Given the description of an element on the screen output the (x, y) to click on. 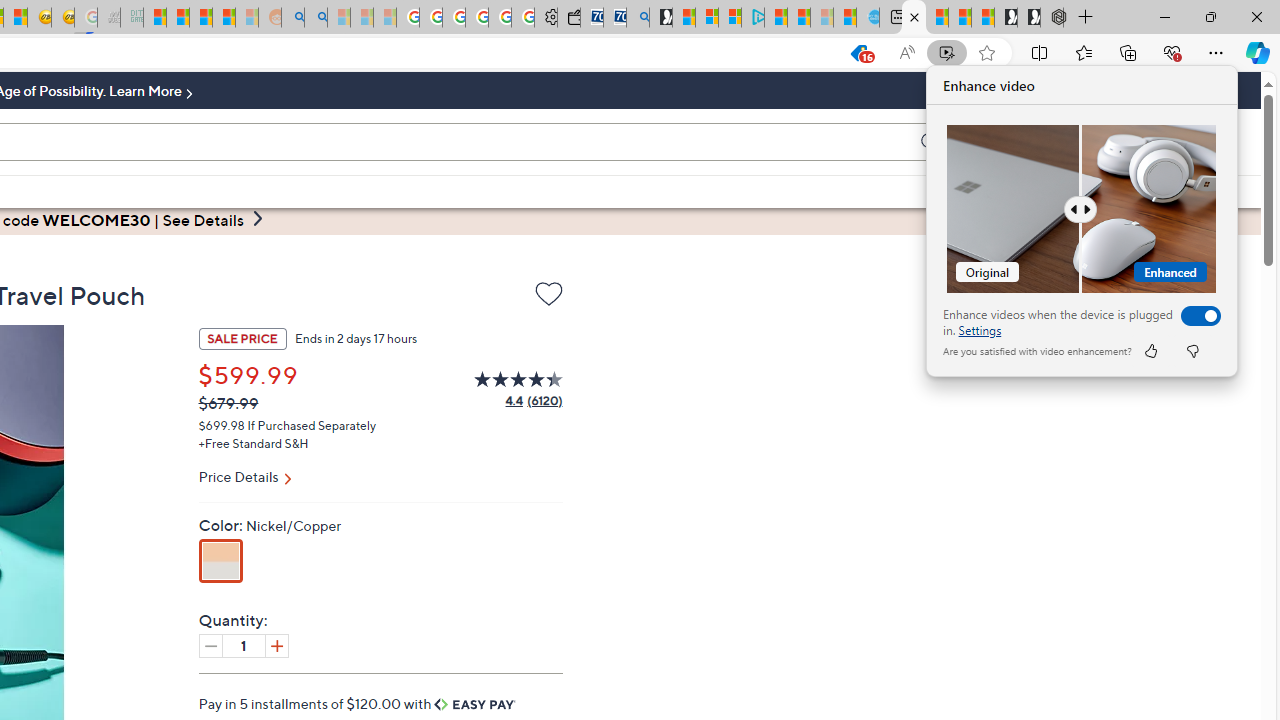
Add to Wish List (548, 297)
like (1150, 350)
Decrease quantity by 1 (210, 645)
Increase quantity by 1 (276, 645)
